Given the description of an element on the screen output the (x, y) to click on. 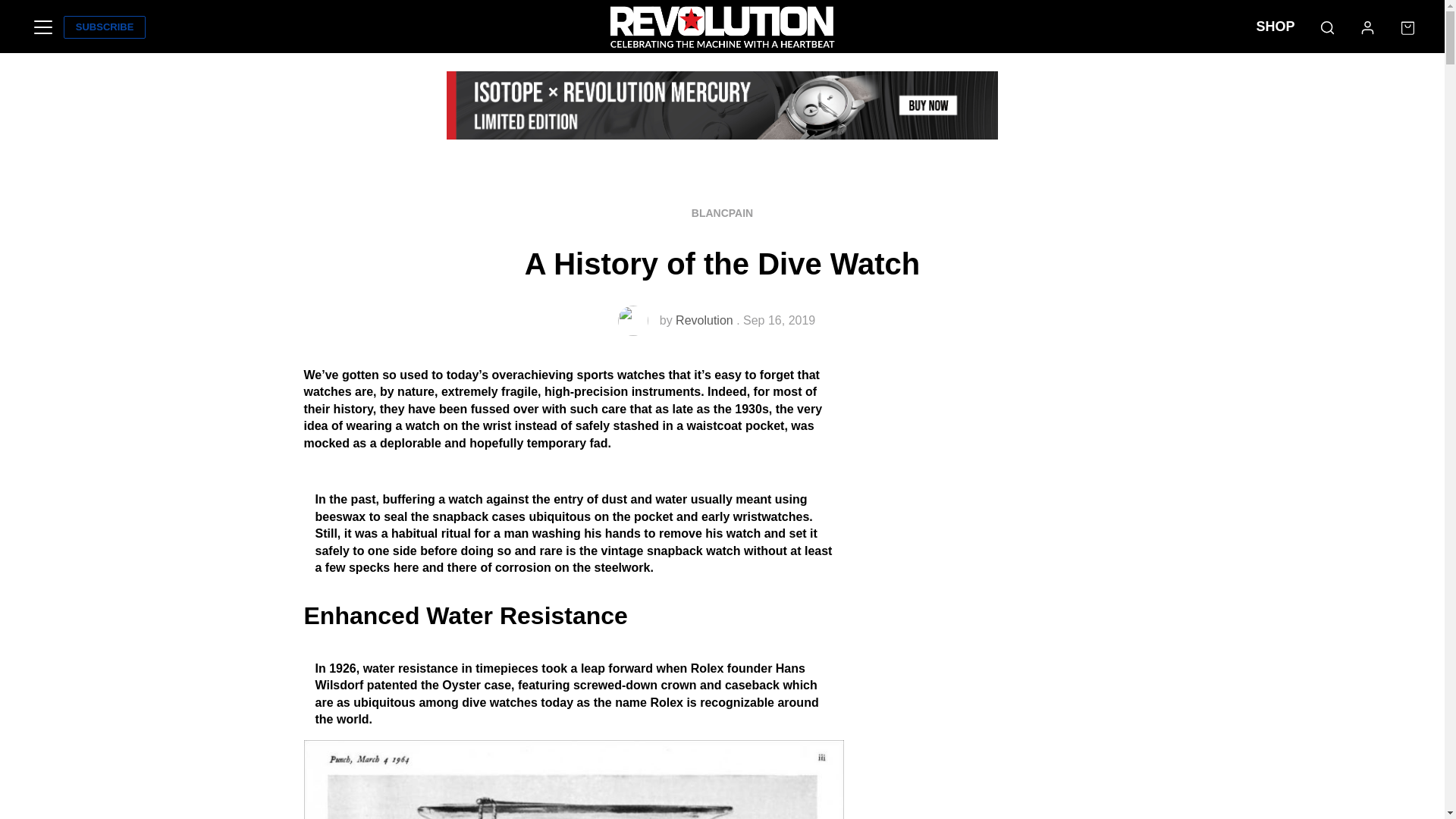
SHOP (1275, 26)
SUBSCRIBE (105, 26)
